Given the description of an element on the screen output the (x, y) to click on. 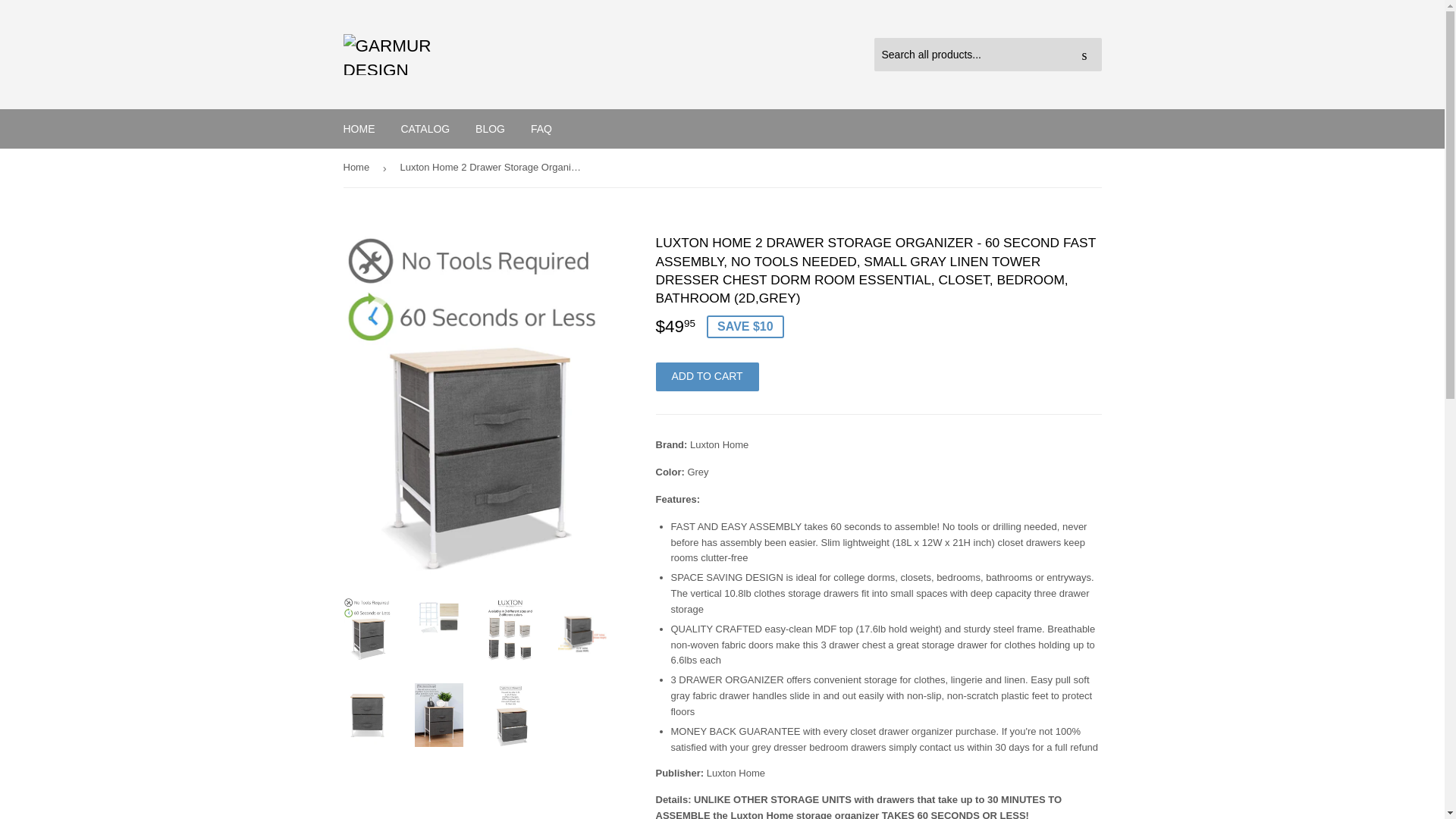
ADD TO CART (706, 376)
FAQ (541, 128)
HOME (359, 128)
CATALOG (424, 128)
BLOG (490, 128)
Search (1084, 55)
